Given the description of an element on the screen output the (x, y) to click on. 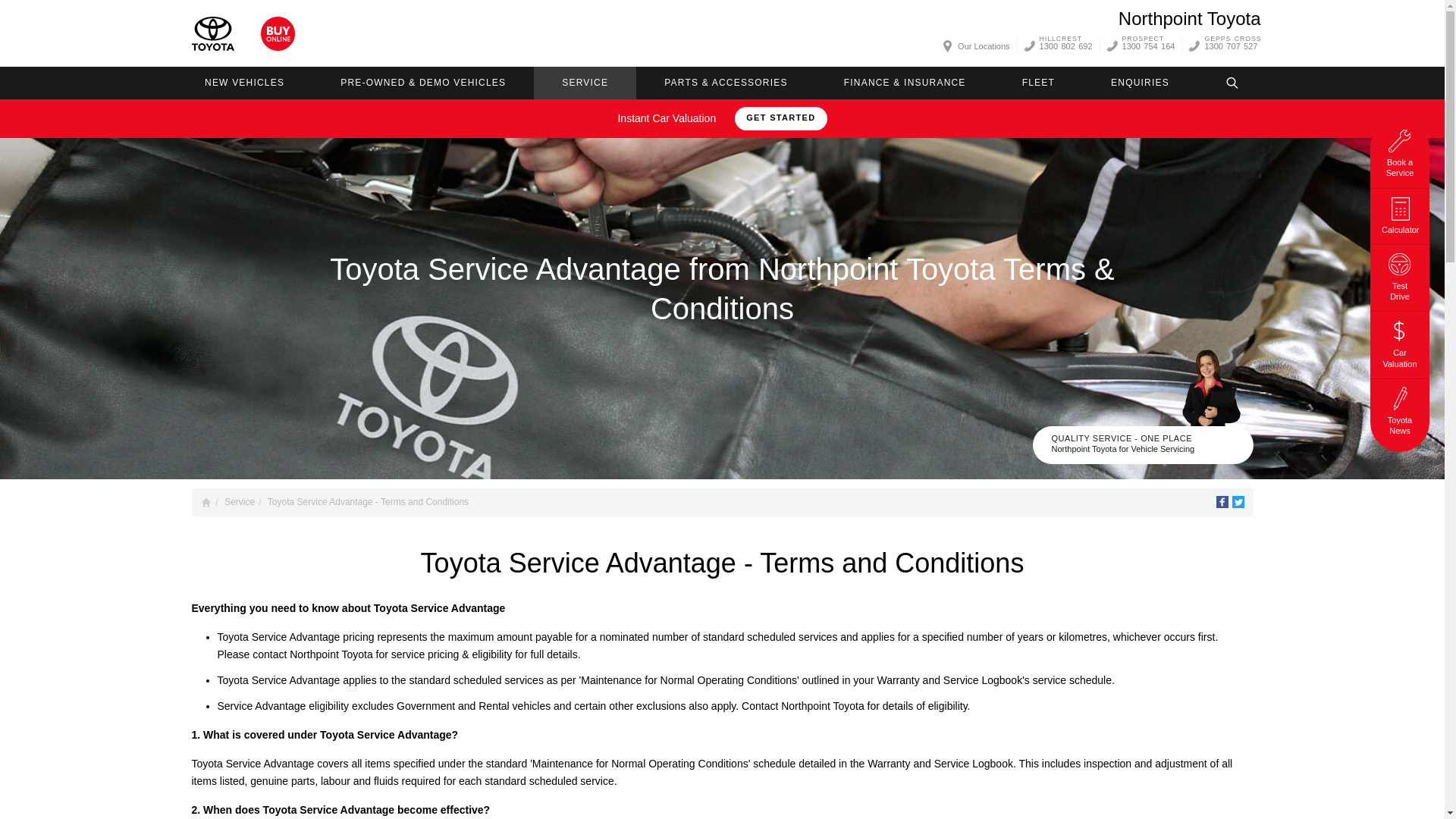
Twitter (1237, 501)
Buy Online (277, 33)
Calculator (1399, 213)
Northpoint Toyota (1189, 18)
Northpoint Toyota (1189, 18)
Northpoint Toyota (211, 33)
Facebook (1221, 501)
NEW VEHICLES (243, 82)
